Given the description of an element on the screen output the (x, y) to click on. 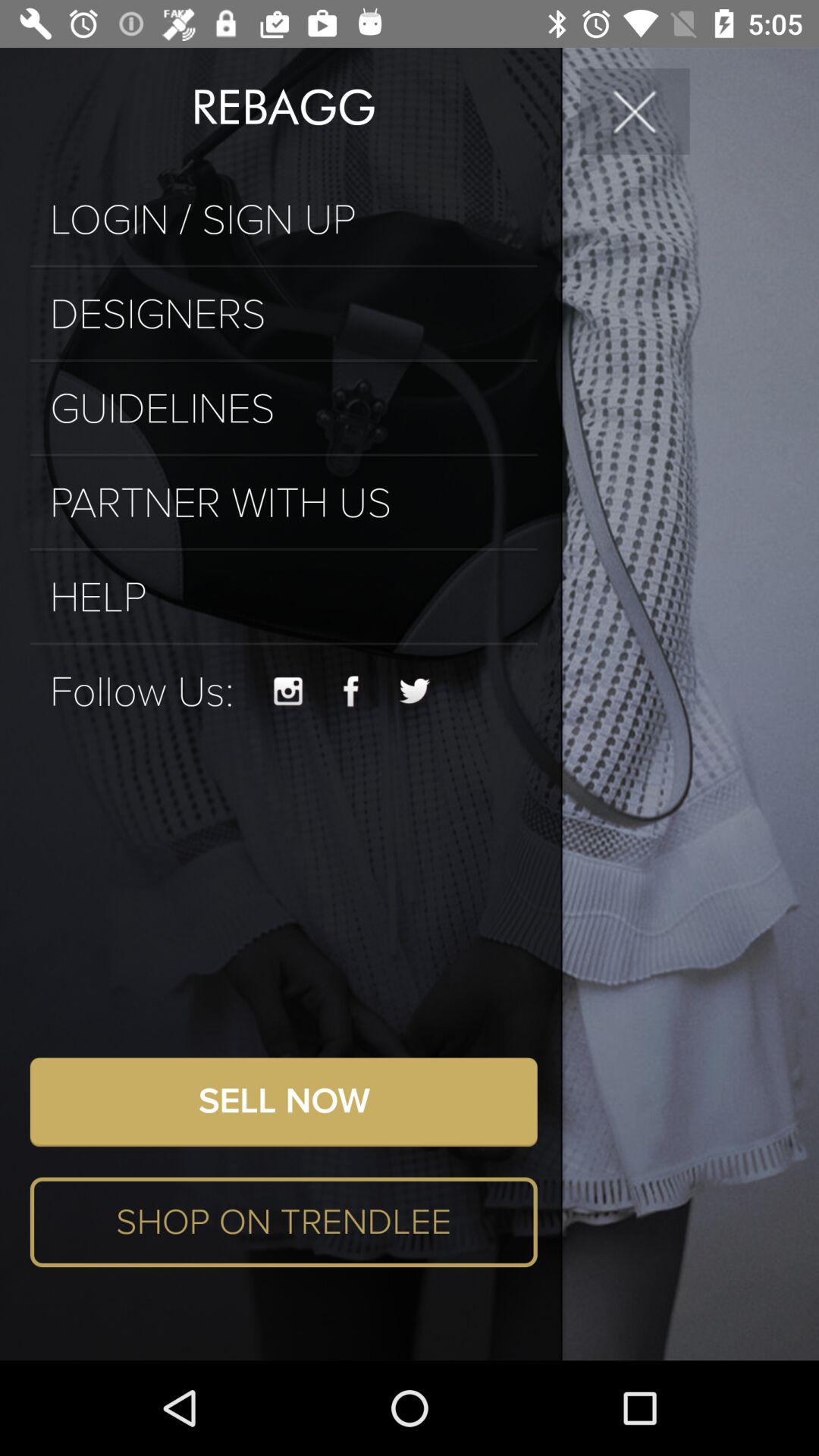
turn on the follow us: (141, 692)
